Given the description of an element on the screen output the (x, y) to click on. 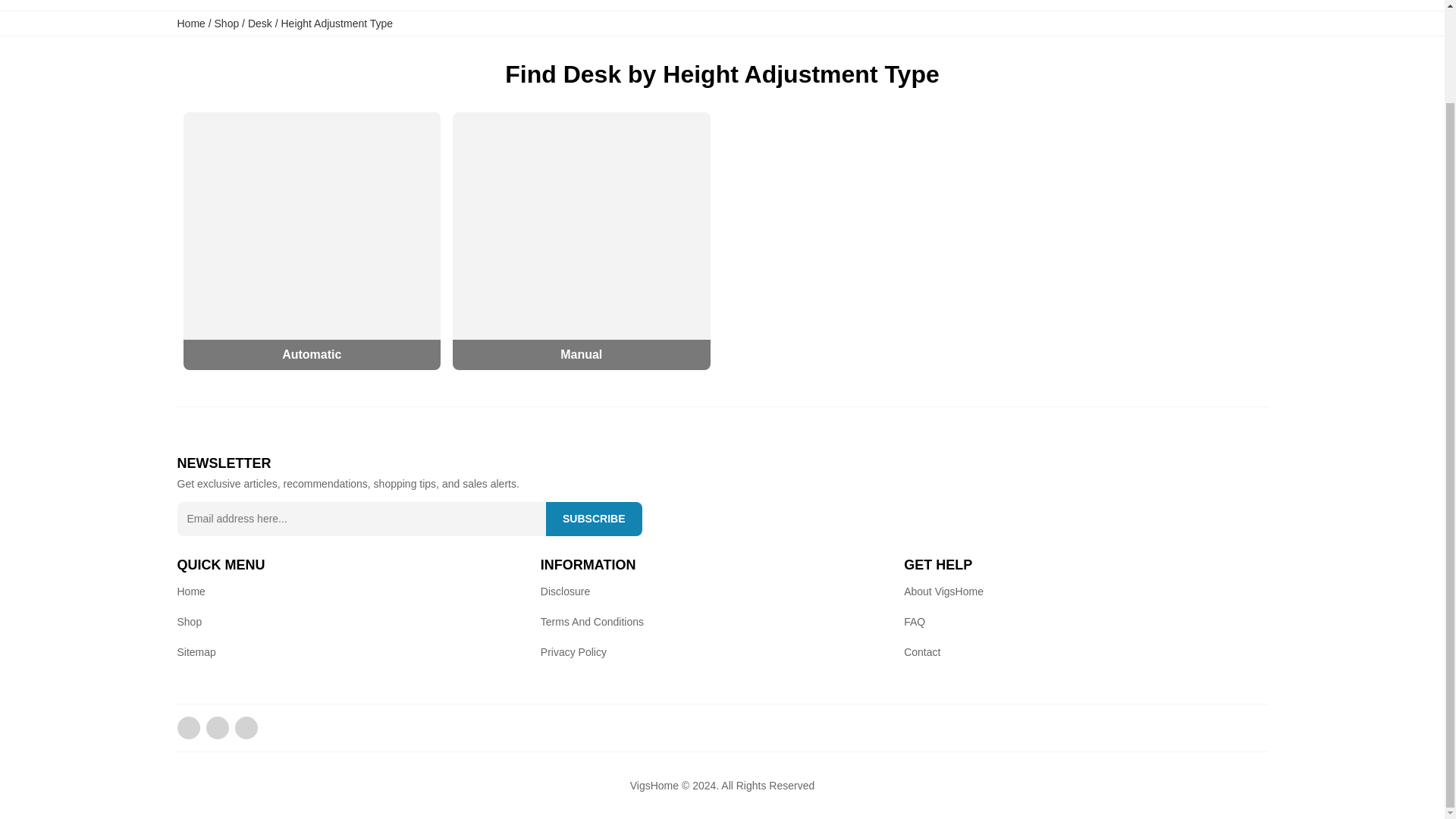
Terms And Conditions (591, 621)
Privacy Policy (573, 651)
Home (191, 590)
Desk (259, 23)
Shop (227, 23)
ALL CATEGORIES (1170, 4)
Manual (581, 241)
Sitemap (196, 651)
Contact (922, 651)
TRENDING (1312, 4)
Disclosure (564, 590)
Shop (189, 621)
Automatic (312, 241)
SUBSCRIBE (594, 518)
Height Adjustment Type (337, 23)
